Given the description of an element on the screen output the (x, y) to click on. 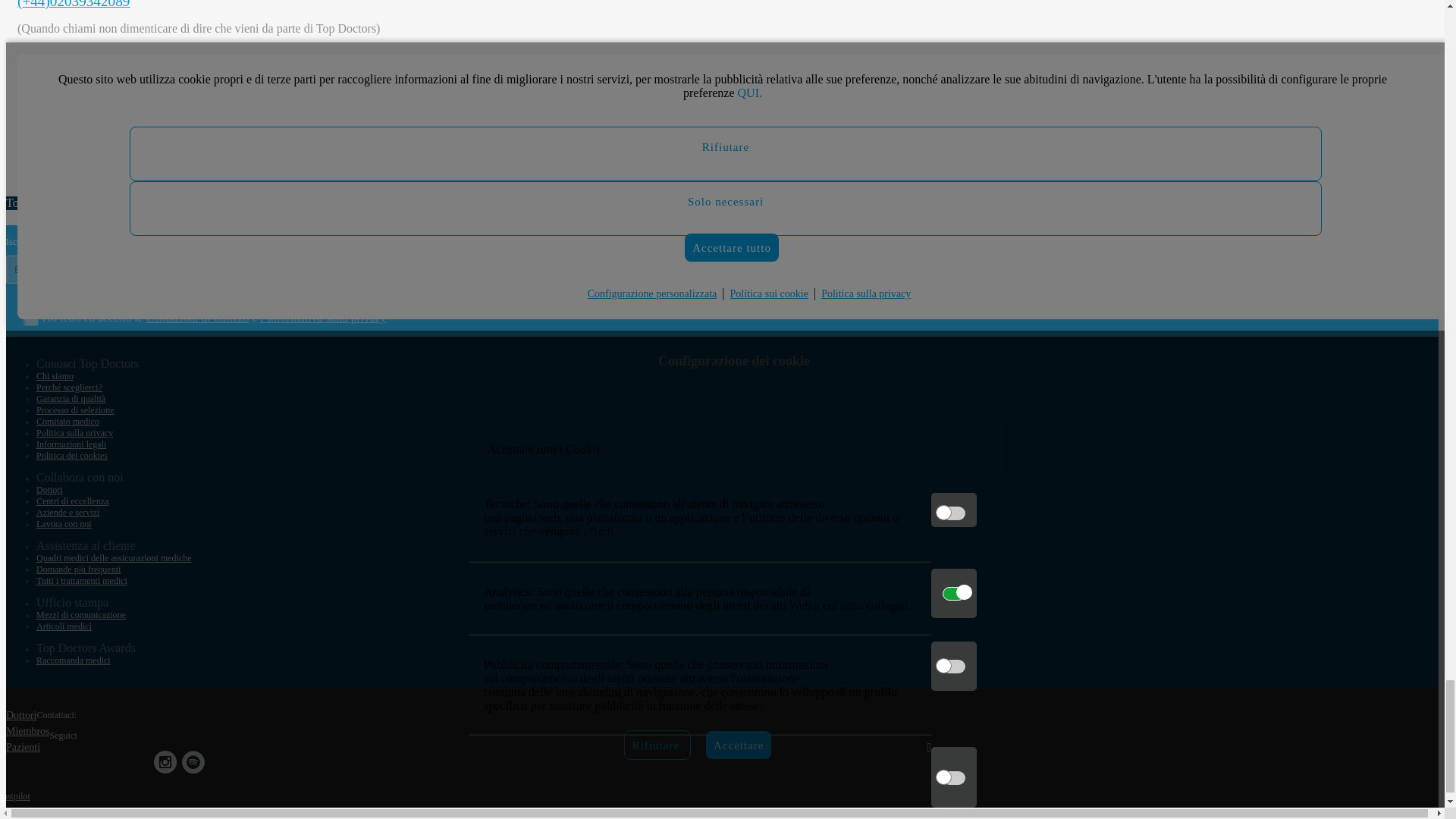
Top Doctors en Linkedin (109, 765)
Top Doctors su Spotify (193, 765)
Top Doctors en Facebook (52, 765)
Top Doctors en Youtube (136, 765)
Top Doctors su Instagram (164, 765)
Top Doctors en Twitter (81, 765)
